Given the description of an element on the screen output the (x, y) to click on. 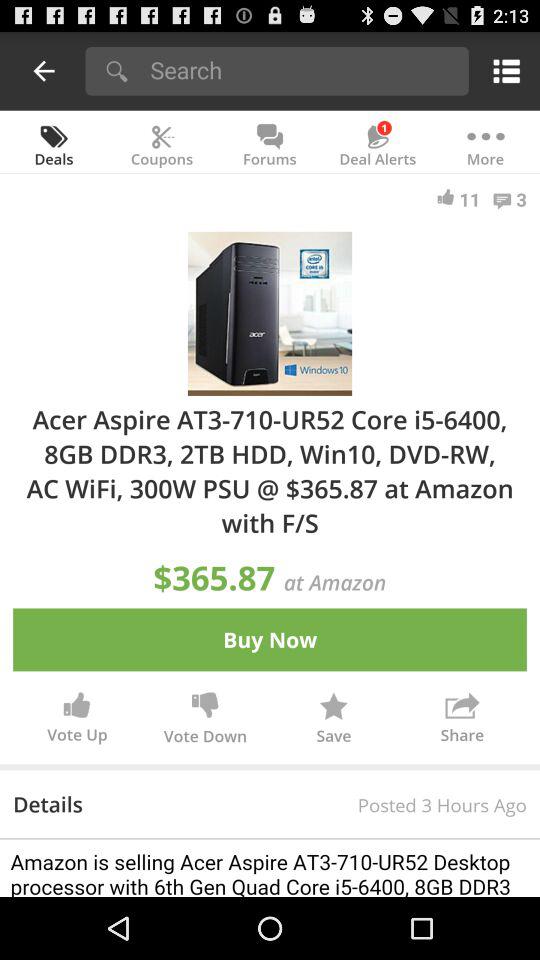
open menu (502, 70)
